Given the description of an element on the screen output the (x, y) to click on. 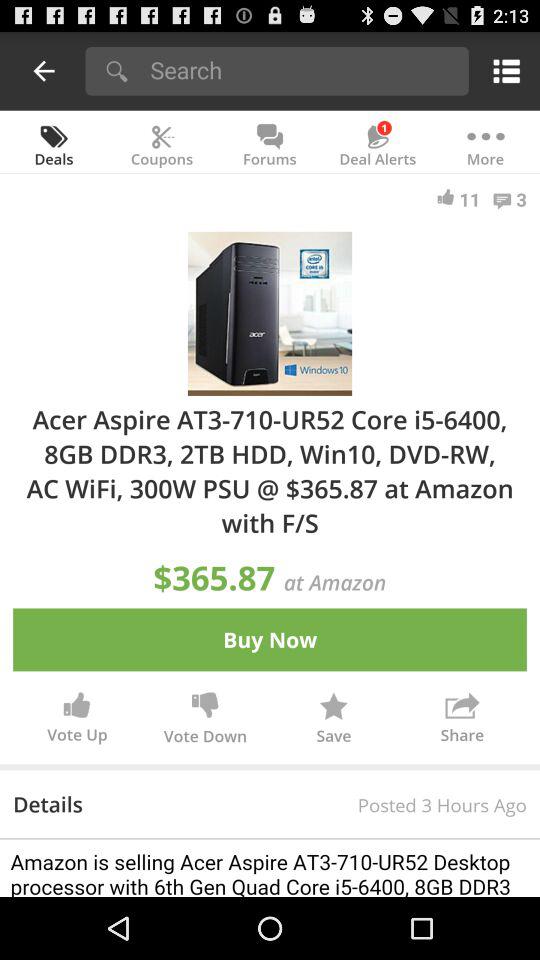
open menu (502, 70)
